Given the description of an element on the screen output the (x, y) to click on. 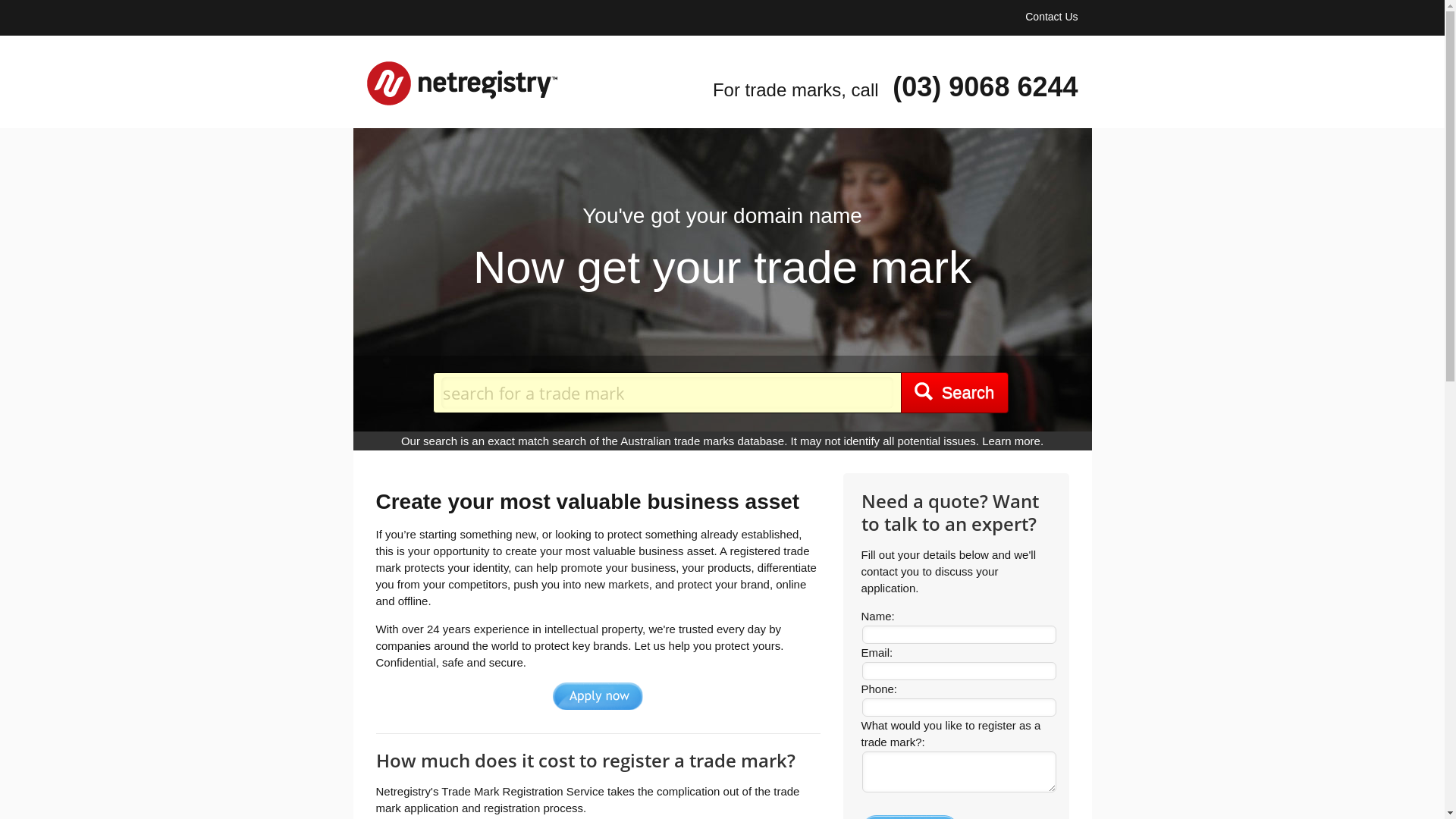
Contact Us Element type: text (1051, 16)
Search Element type: text (954, 392)
Learn more Element type: text (1011, 440)
